Given the description of an element on the screen output the (x, y) to click on. 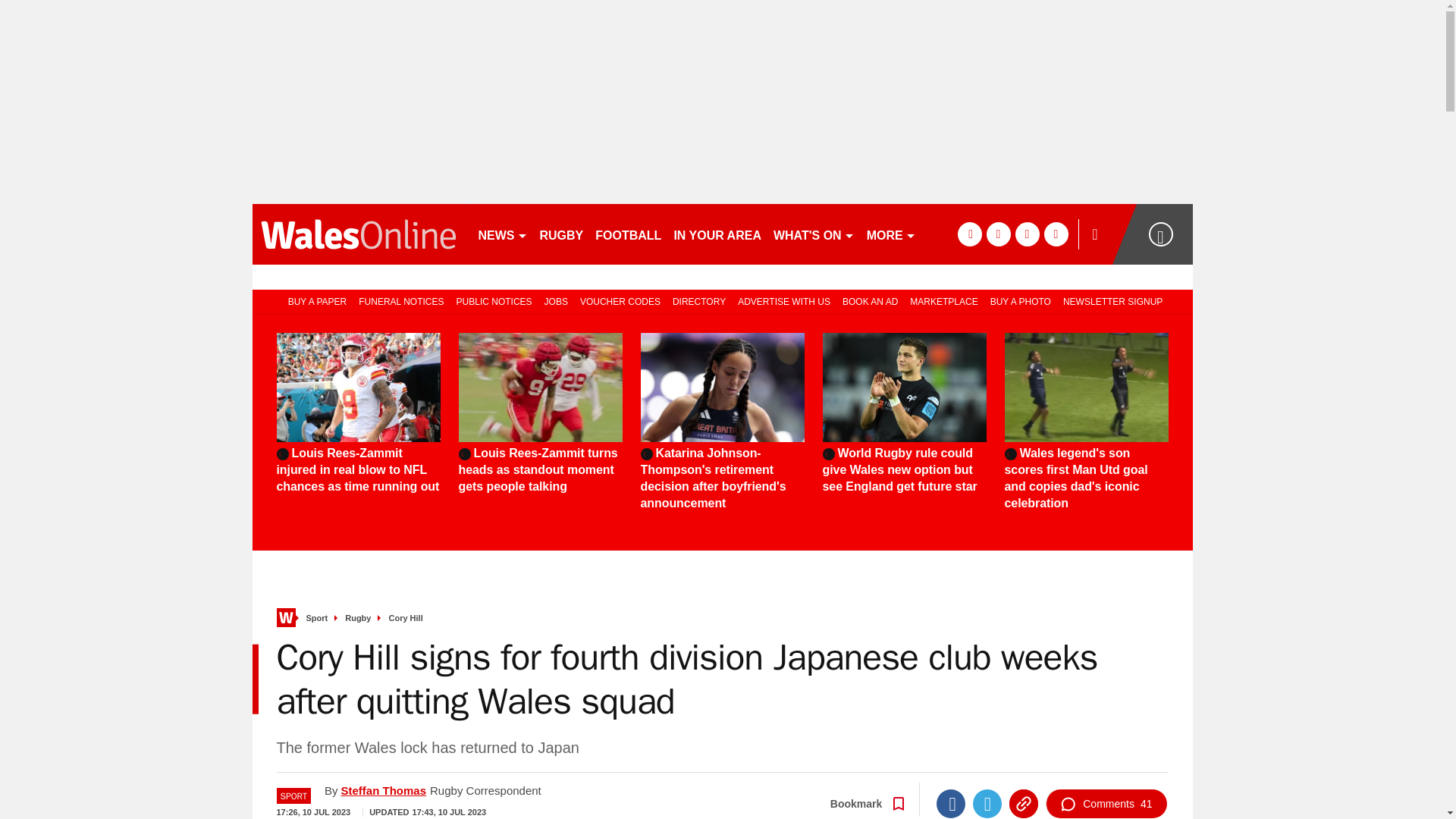
twitter (997, 233)
Twitter (986, 803)
WHAT'S ON (813, 233)
Facebook (950, 803)
Comments (1105, 803)
RUGBY (561, 233)
NEWS (501, 233)
MORE (890, 233)
FOOTBALL (627, 233)
facebook (968, 233)
